Given the description of an element on the screen output the (x, y) to click on. 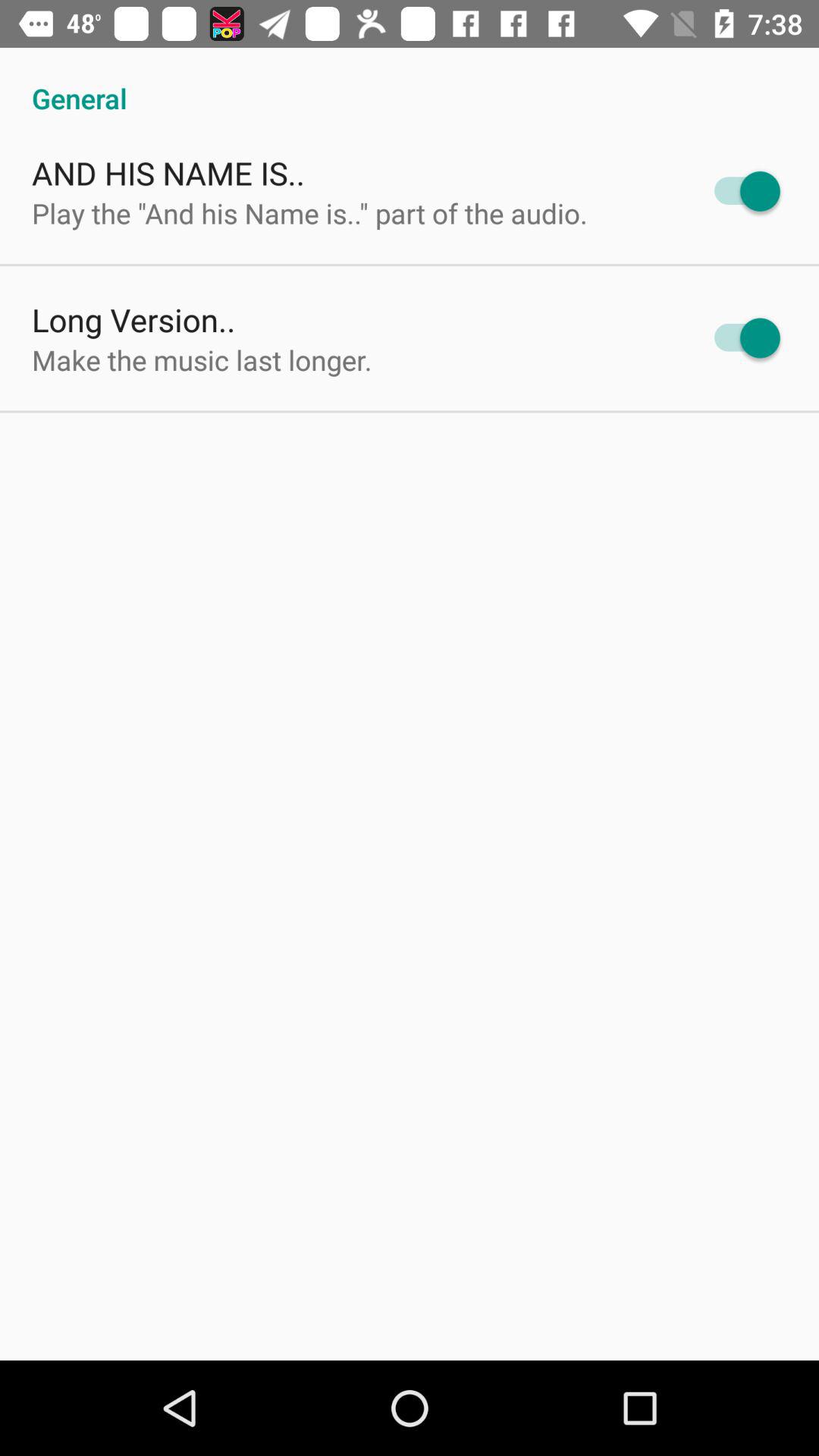
swipe until general icon (409, 82)
